Given the description of an element on the screen output the (x, y) to click on. 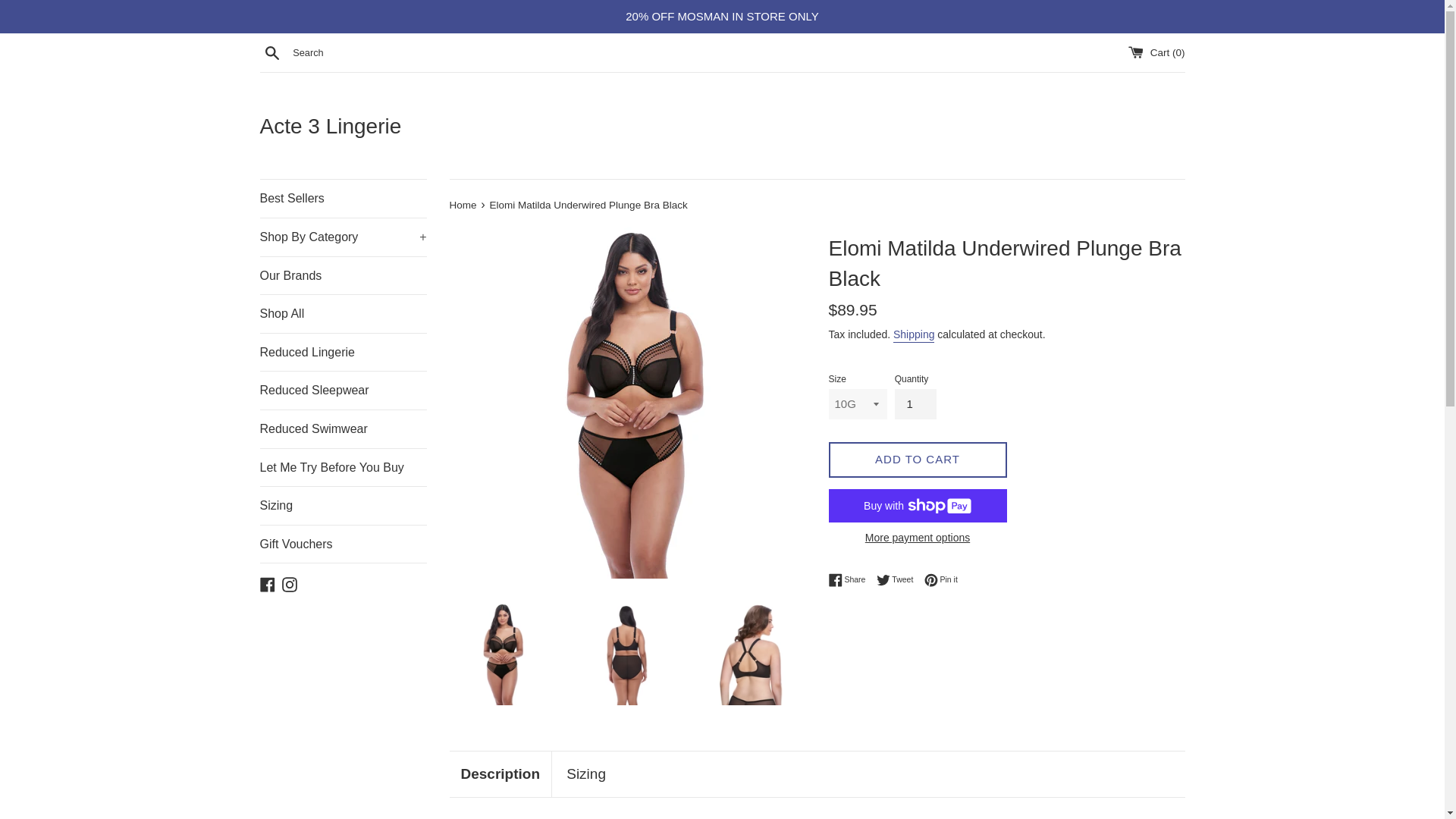
Search (271, 52)
Acte 3 Lingerie (722, 125)
Tweet on Twitter (898, 580)
Best Sellers (342, 198)
Acte 3 Lingerie on Facebook (267, 583)
Acte 3 Lingerie on Instagram (289, 583)
Pin on Pinterest (941, 580)
Back to the frontpage (463, 204)
1 (915, 404)
Share on Facebook (850, 580)
